Given the description of an element on the screen output the (x, y) to click on. 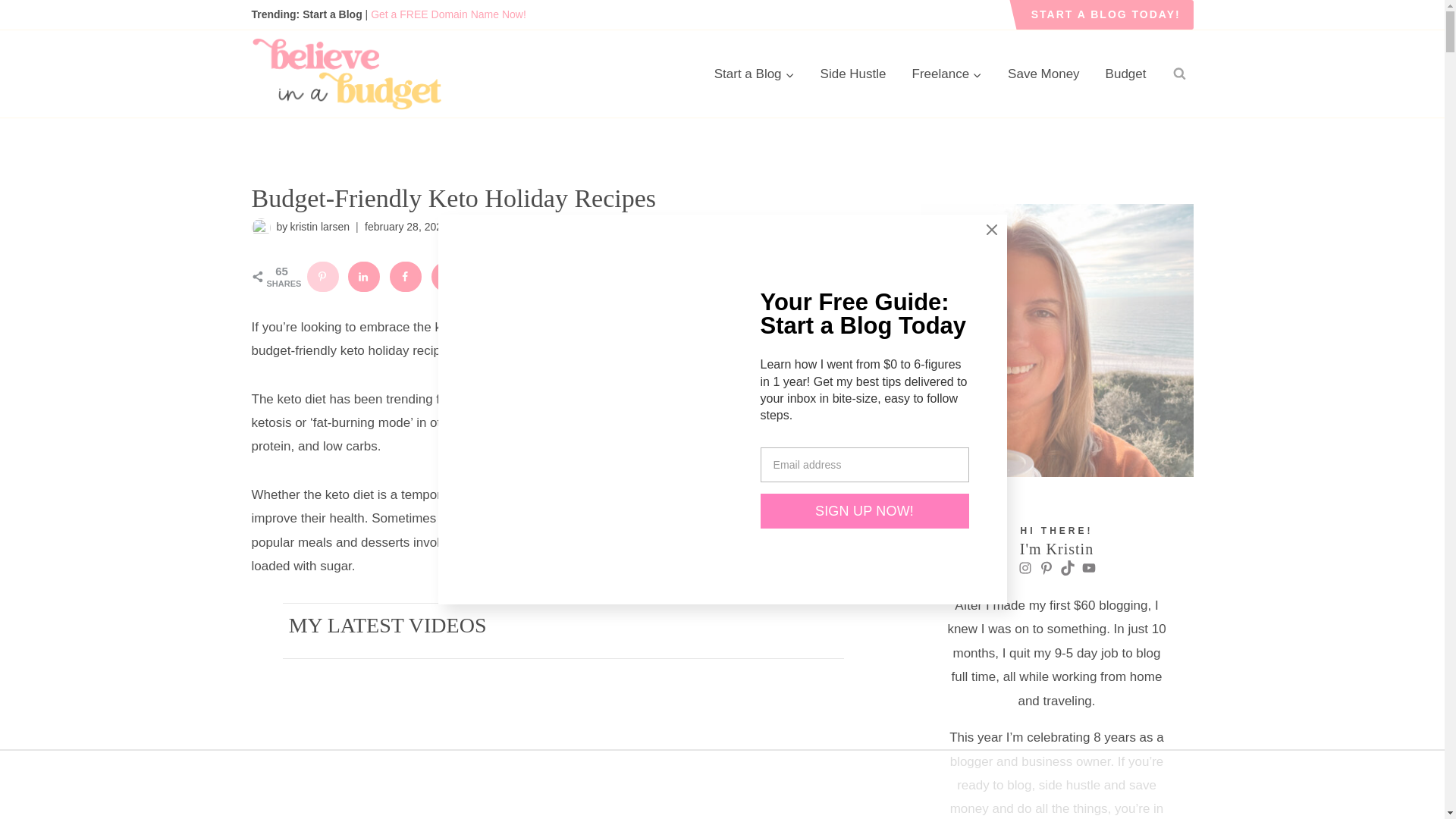
Side Hustle (853, 74)
Freelance (947, 74)
START A BLOG TODAY! (1105, 14)
Start a Blog (754, 74)
Save to Pinterest (322, 276)
Get a FREE Domain Name Now! (448, 14)
Send over email (489, 276)
Share on X (447, 276)
Share on Threads (531, 276)
Share on Facebook (406, 276)
Save Money (1043, 74)
Share on LinkedIn (364, 276)
Budget (1125, 74)
